Given the description of an element on the screen output the (x, y) to click on. 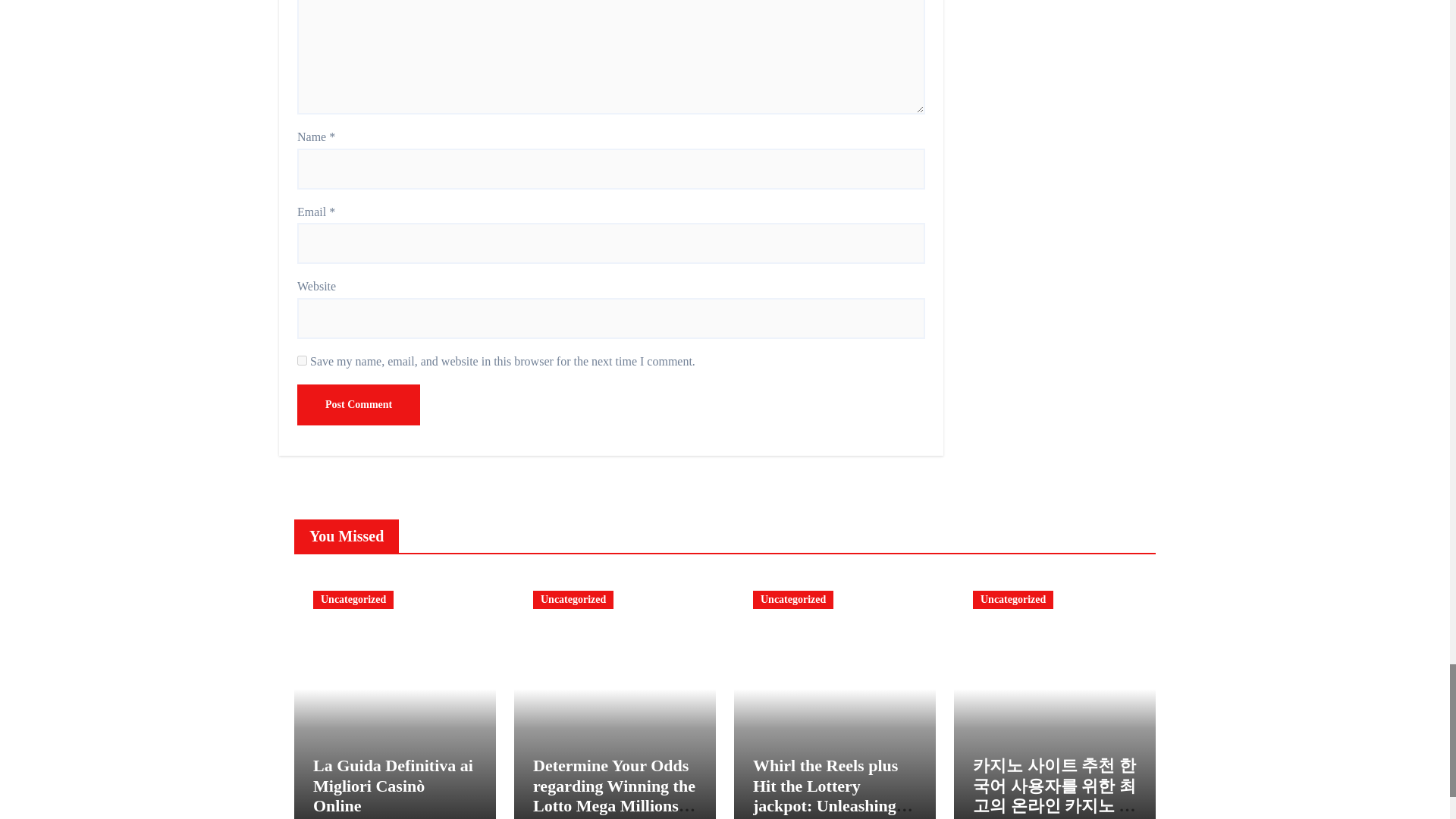
Post Comment (358, 404)
yes (302, 360)
